Given the description of an element on the screen output the (x, y) to click on. 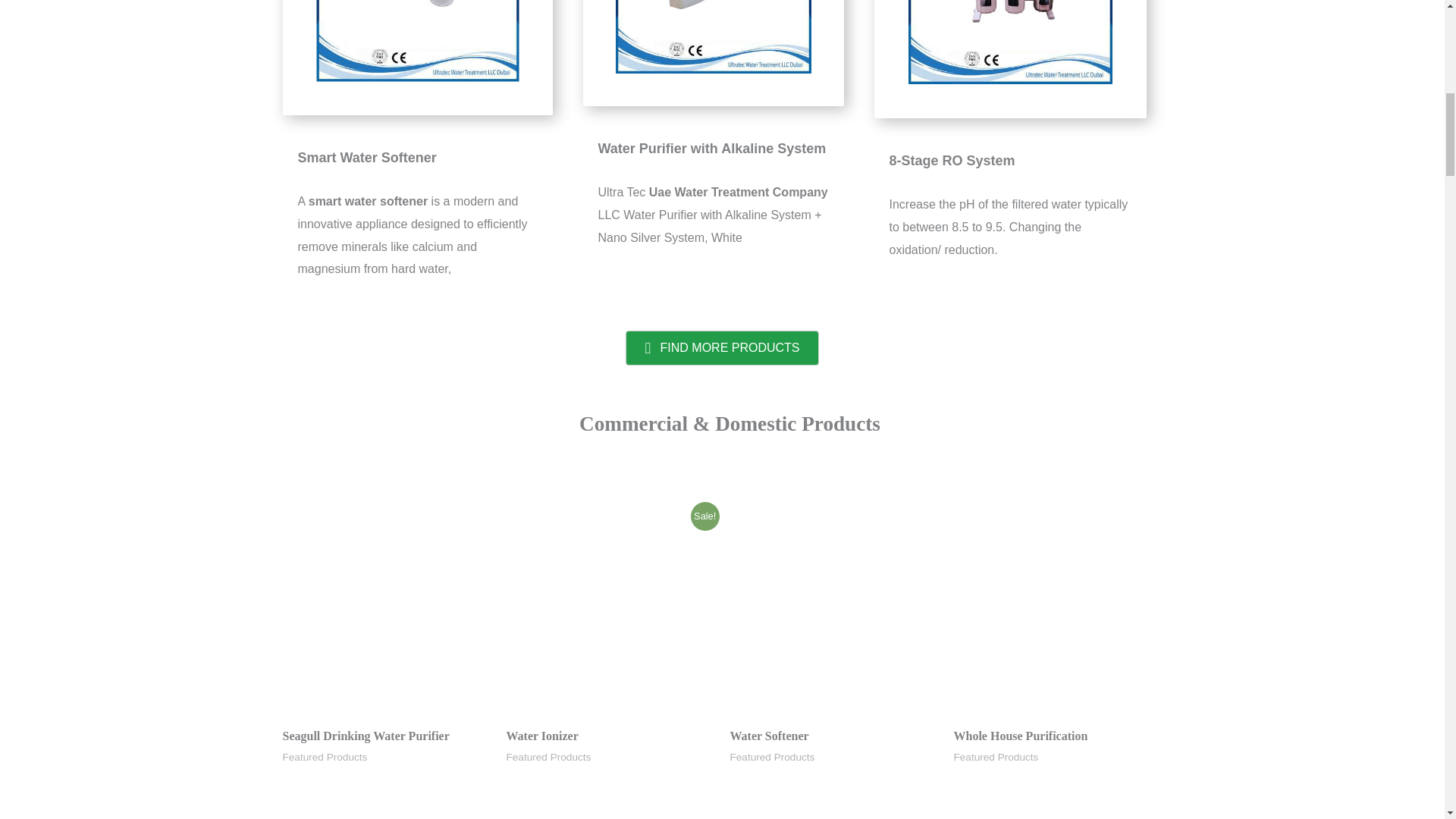
8-Stage RO System (1010, 58)
Smart Water Softeners (416, 57)
Water Purifier with Alkaline System (712, 53)
